Given the description of an element on the screen output the (x, y) to click on. 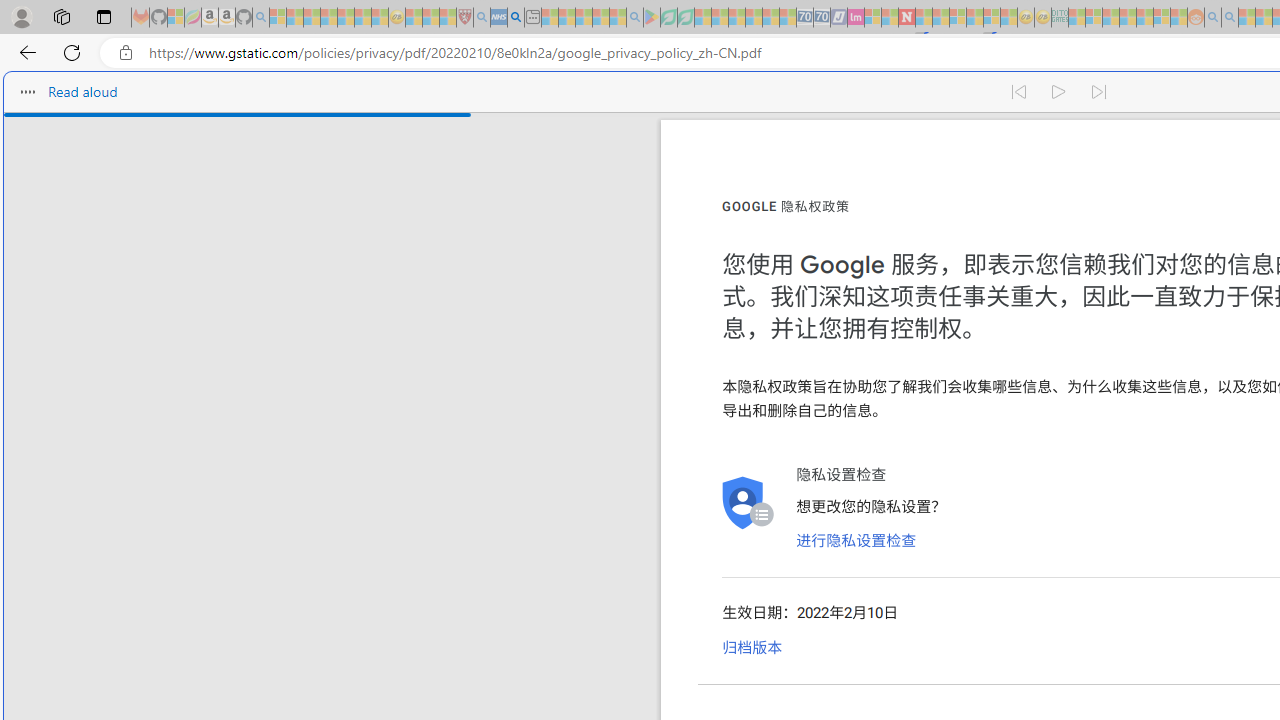
Bluey: Let's Play! - Apps on Google Play - Sleeping (651, 17)
Local - MSN - Sleeping (447, 17)
Pets - MSN - Sleeping (600, 17)
